Given the description of an element on the screen output the (x, y) to click on. 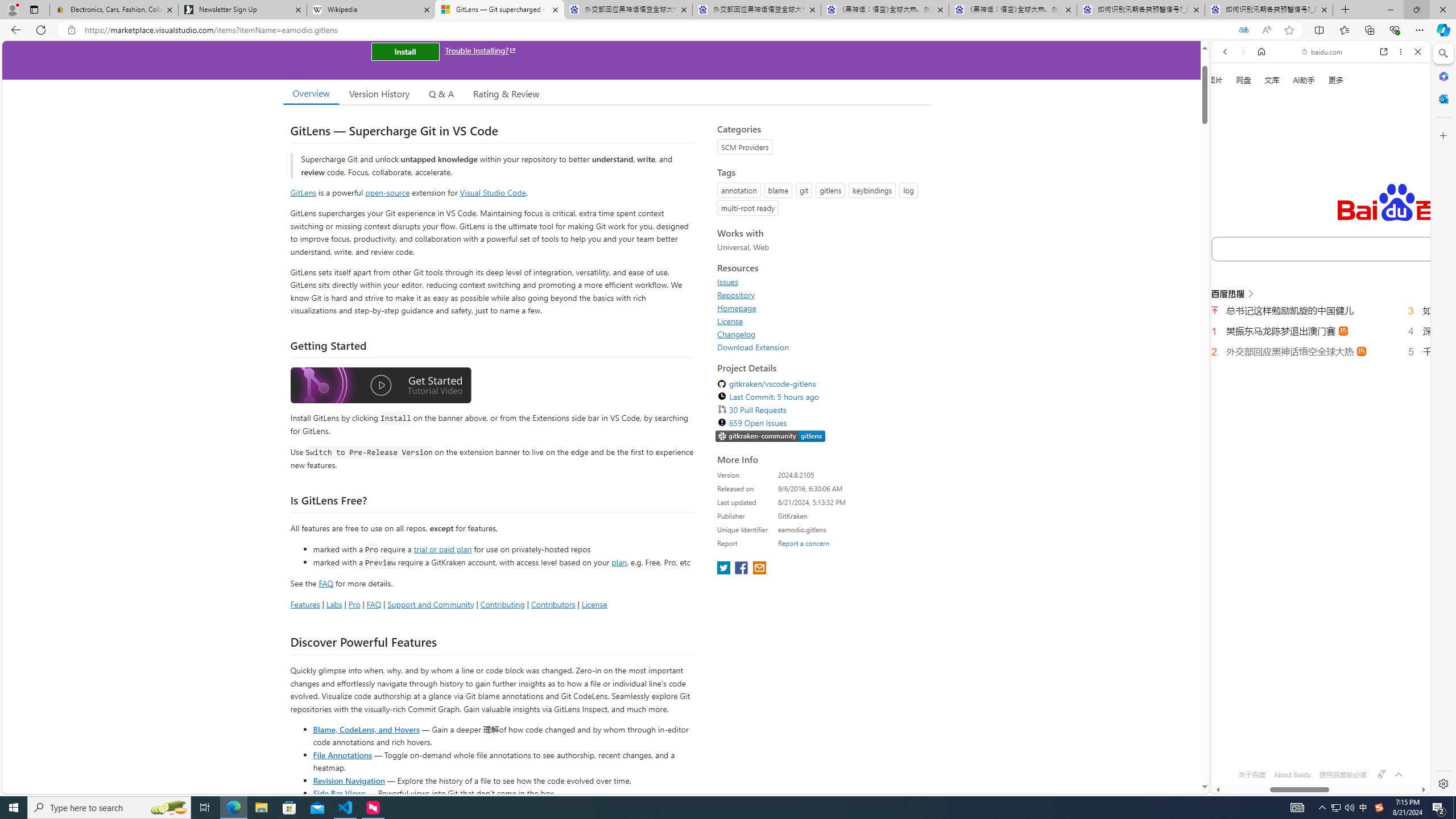
https://slack.gitkraken.com// (769, 436)
English (Uk) (1320, 357)
English (US) (1320, 329)
Blame, CodeLens, and Hovers (366, 728)
Q & A (441, 92)
